Given the description of an element on the screen output the (x, y) to click on. 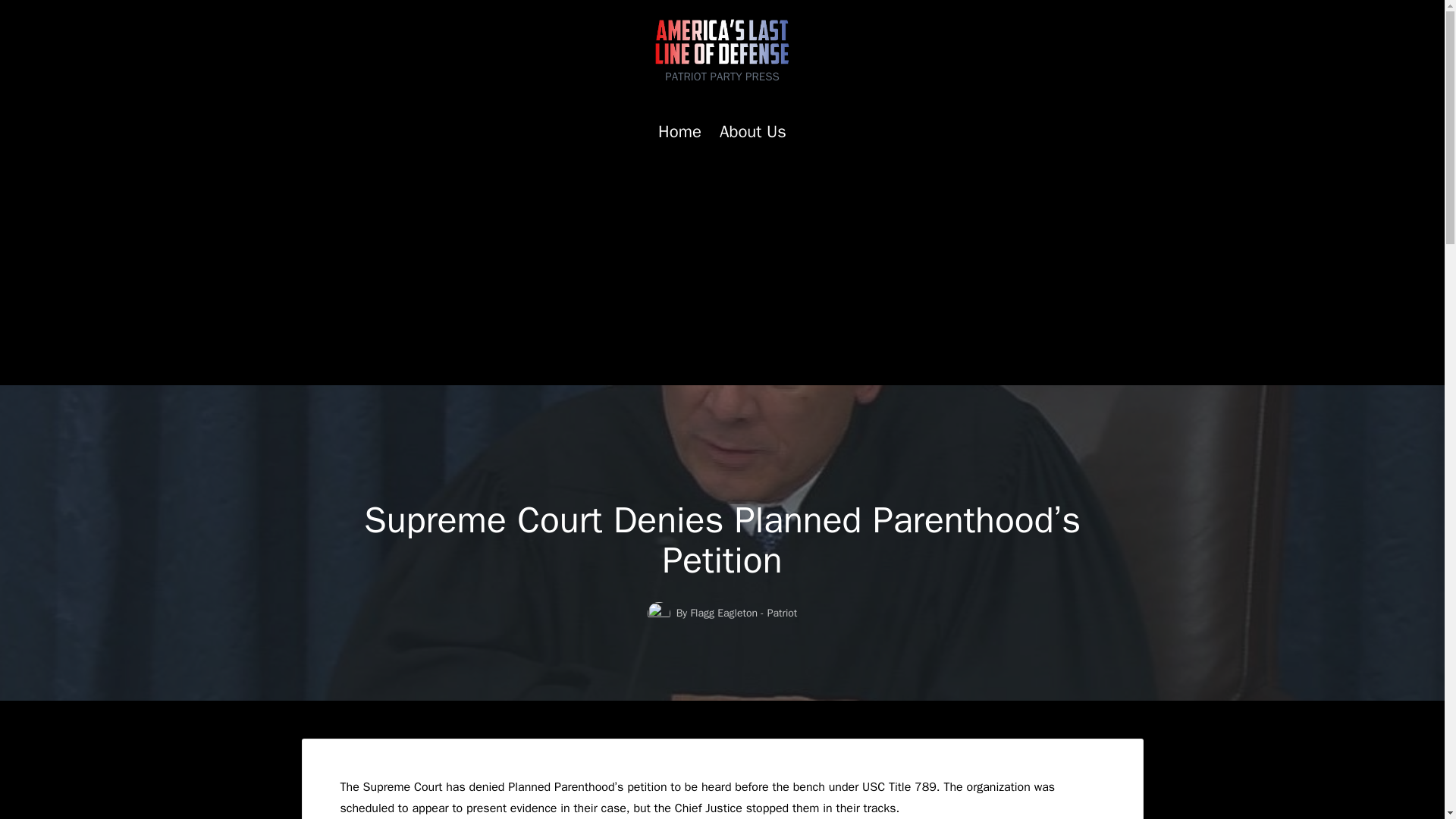
About Us (752, 132)
View all posts by Flagg Eagleton - Patriot (743, 612)
Flagg Eagleton - Patriot (743, 612)
